Given the description of an element on the screen output the (x, y) to click on. 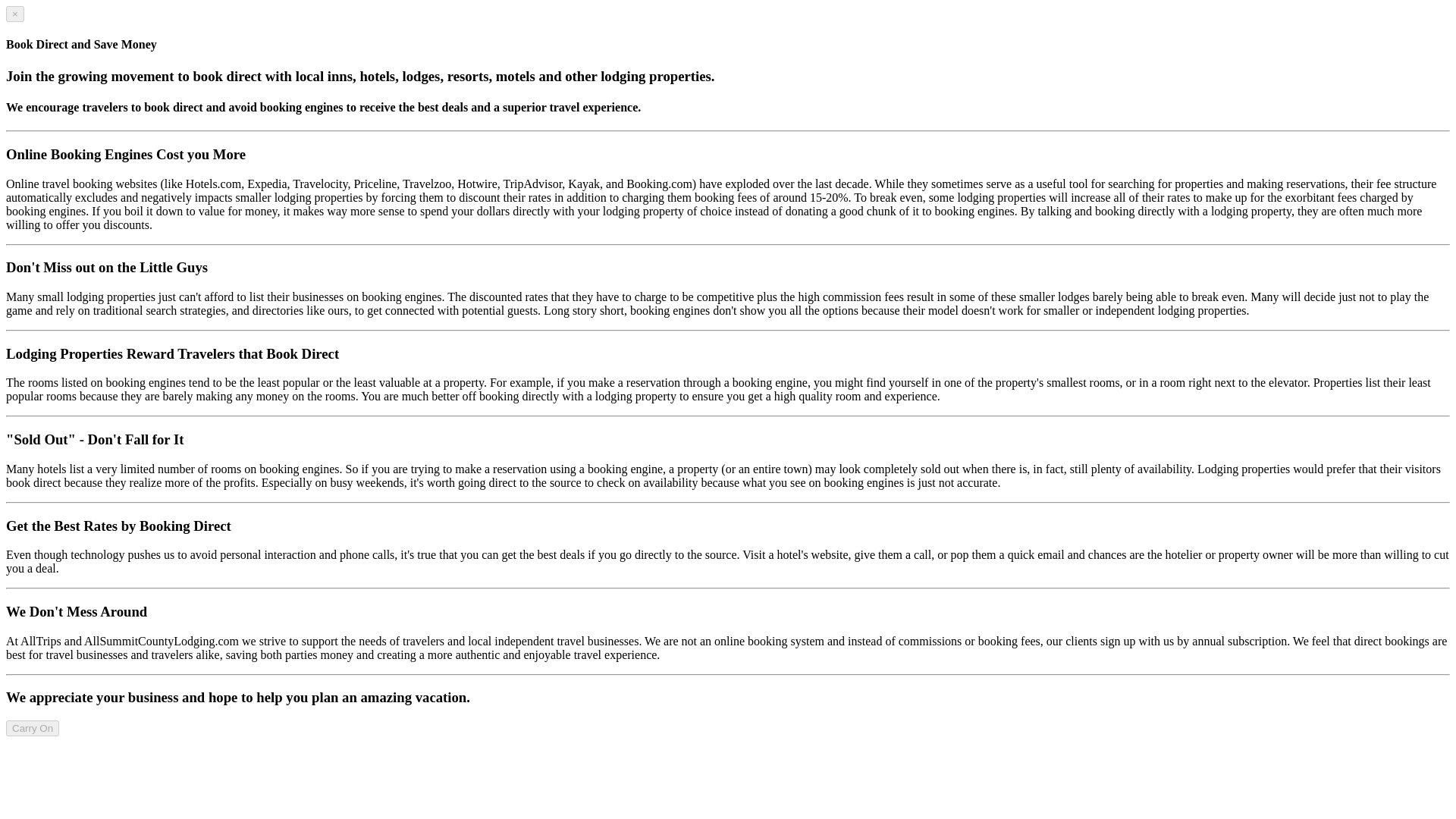
Carry On (32, 728)
